Given the description of an element on the screen output the (x, y) to click on. 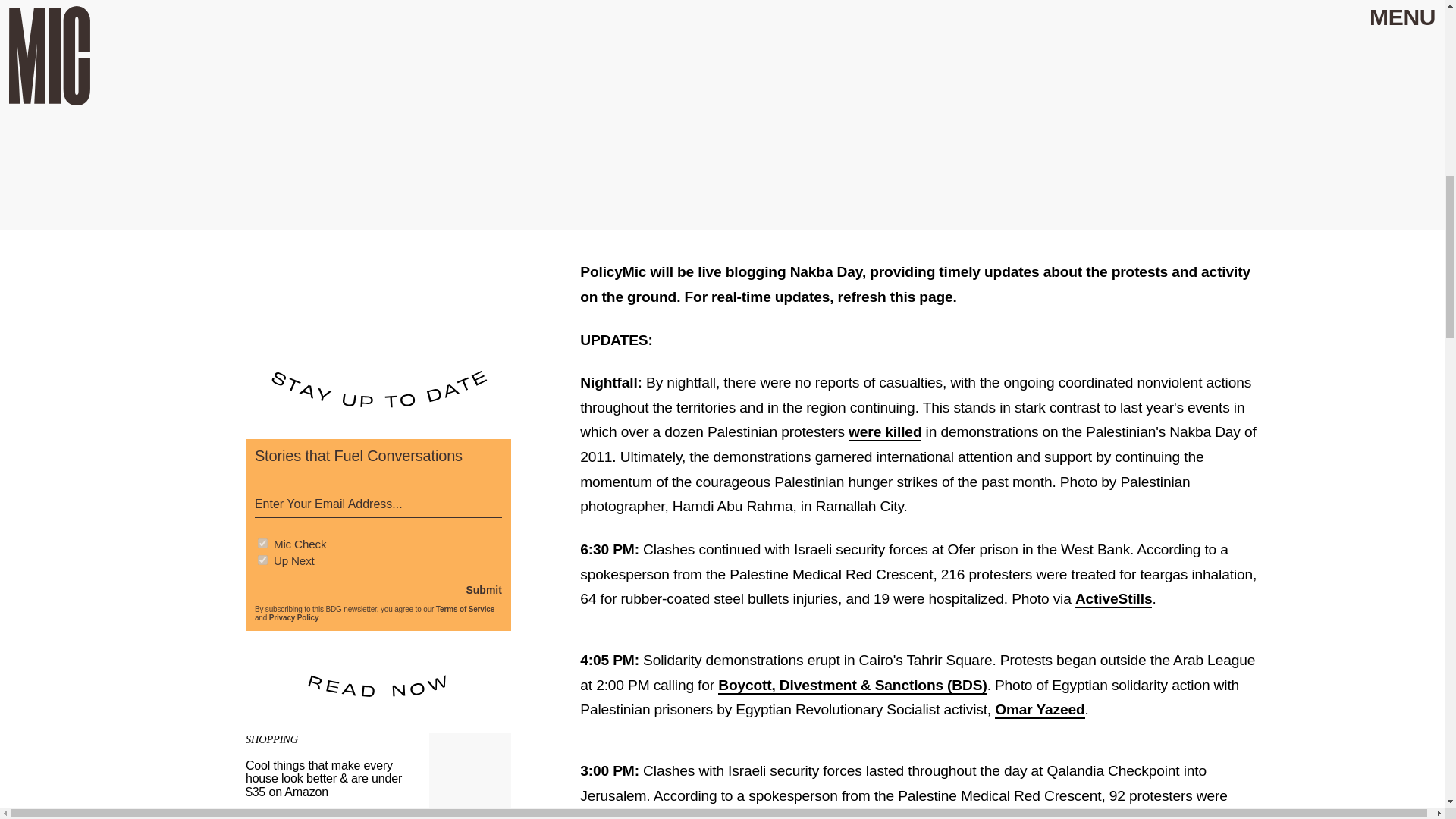
Submit (482, 589)
ActiveStills (1114, 599)
were killed (884, 432)
Privacy Policy (293, 617)
Omar Yazeed (1039, 710)
Terms of Service (465, 609)
